Given the description of an element on the screen output the (x, y) to click on. 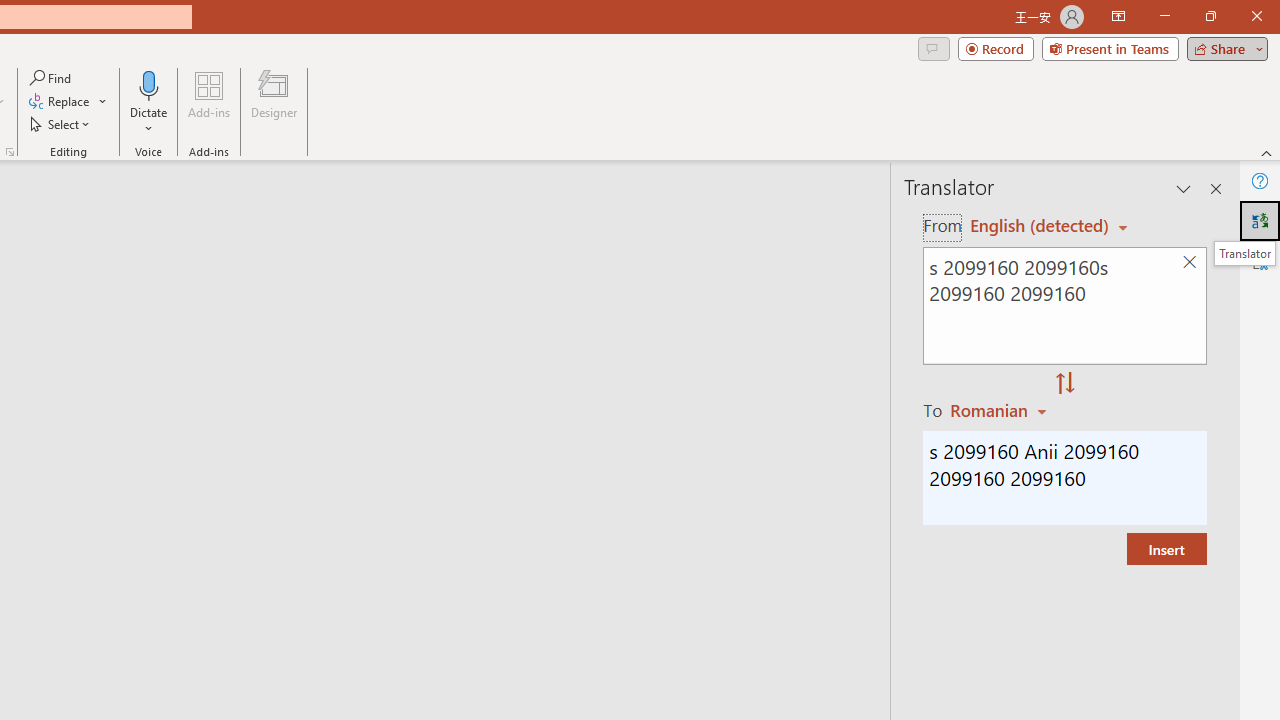
Czech (detected) (1039, 225)
Clear text (1189, 262)
